Given the description of an element on the screen output the (x, y) to click on. 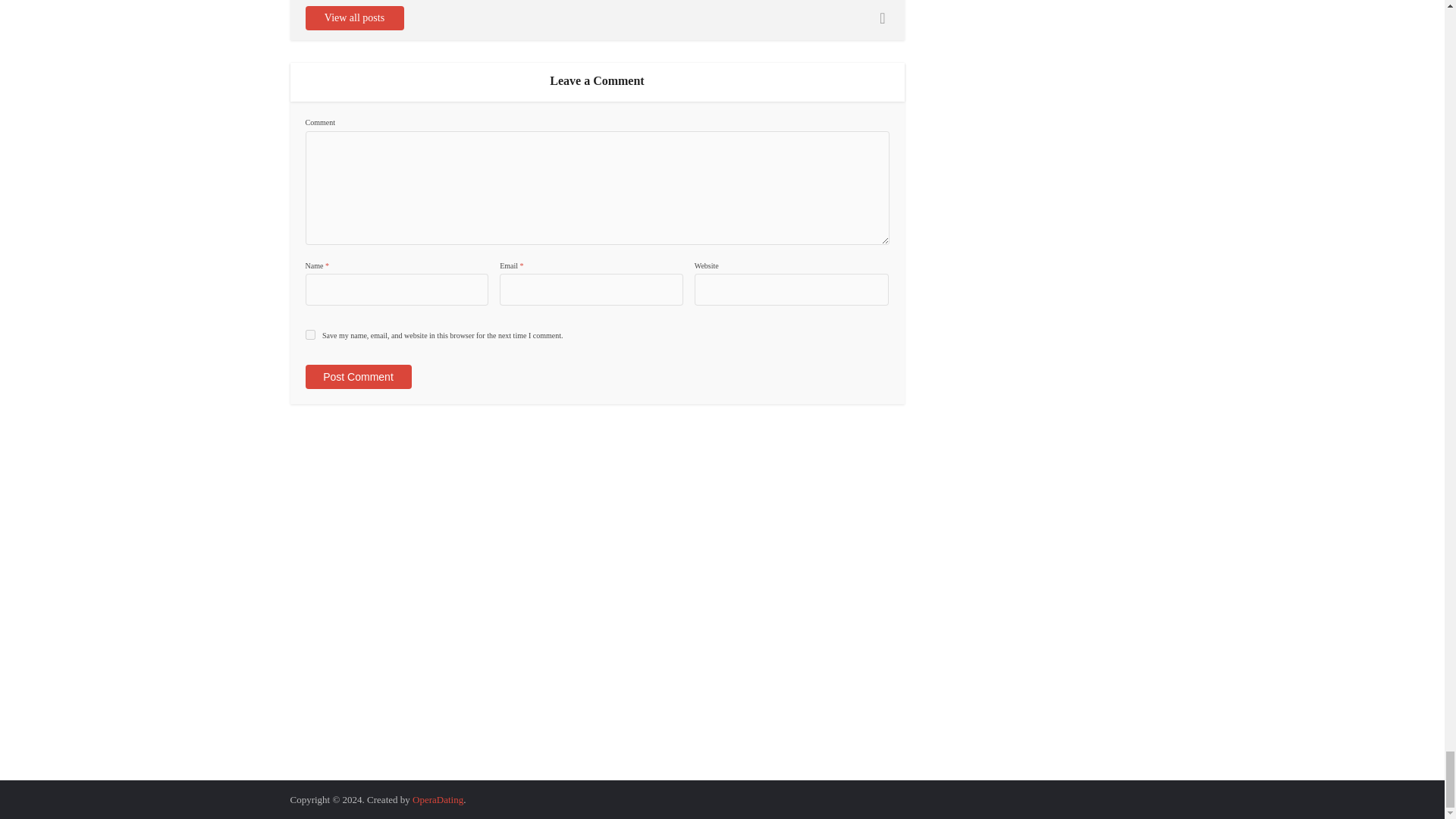
Post Comment (357, 376)
Post Comment (357, 376)
yes (309, 334)
View all posts (353, 17)
